Given the description of an element on the screen output the (x, y) to click on. 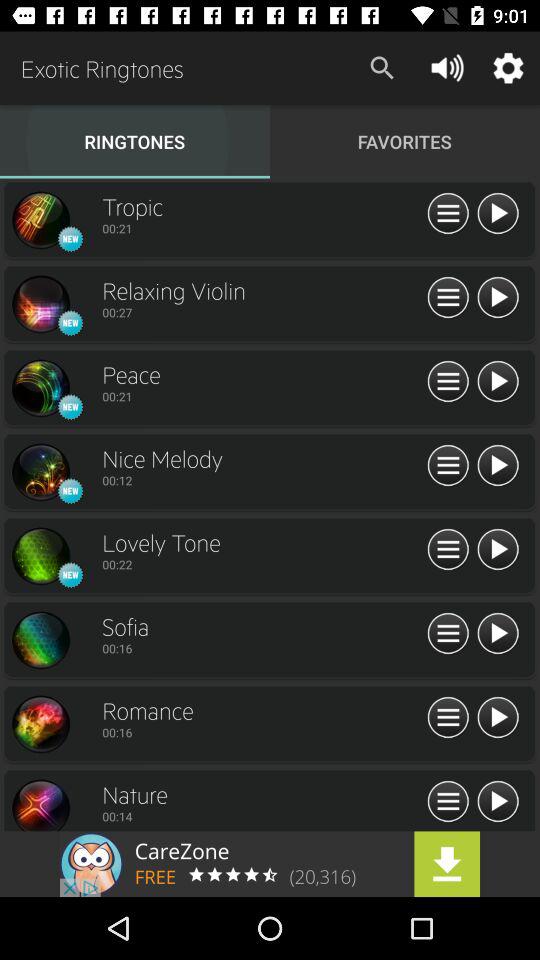
click to play (497, 633)
